Given the description of an element on the screen output the (x, y) to click on. 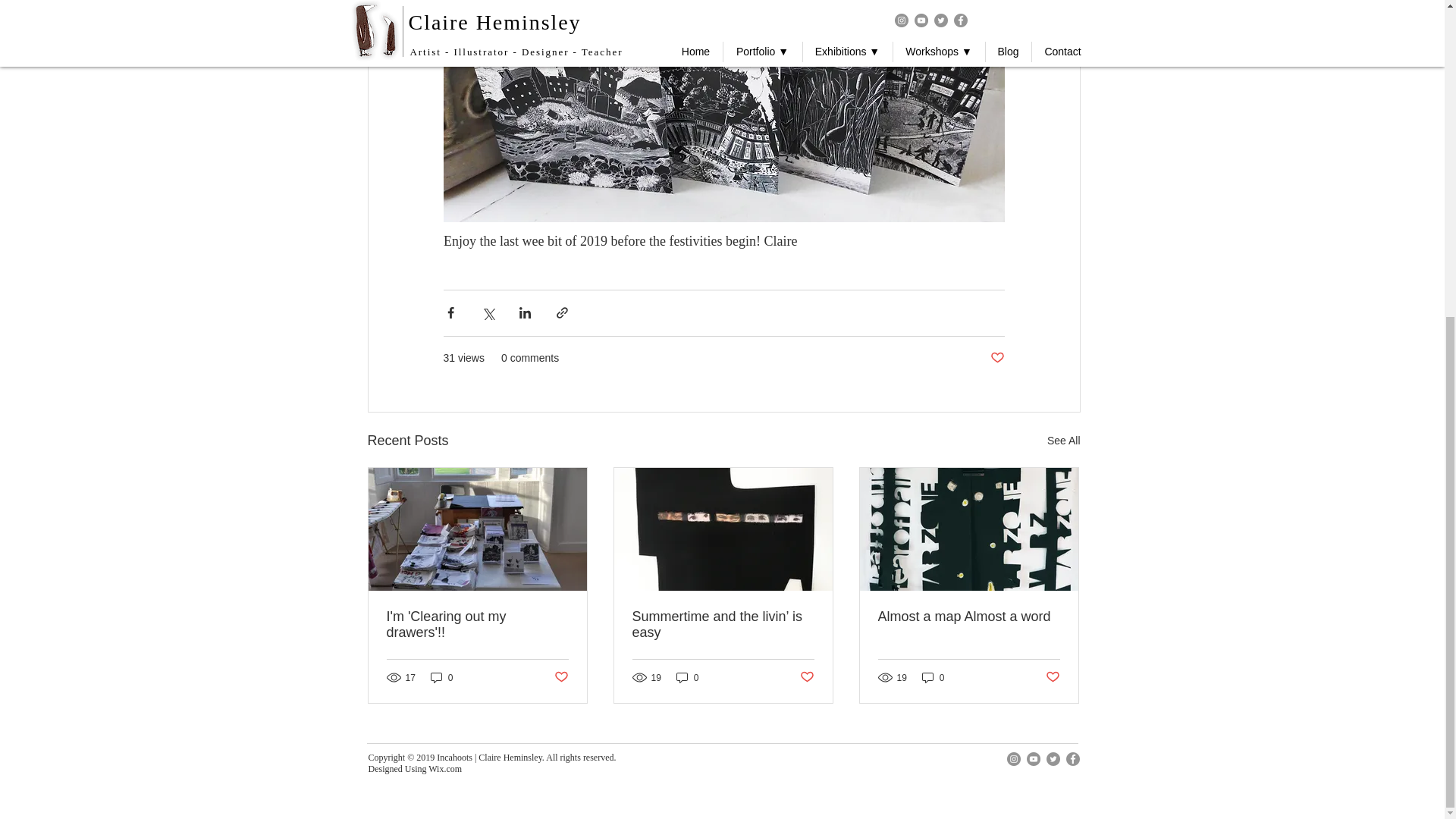
0 (441, 677)
Post not marked as liked (997, 358)
0 (687, 677)
See All (1063, 440)
I'm 'Clearing out my drawers'!! (478, 624)
Post not marked as liked (560, 677)
